Given the description of an element on the screen output the (x, y) to click on. 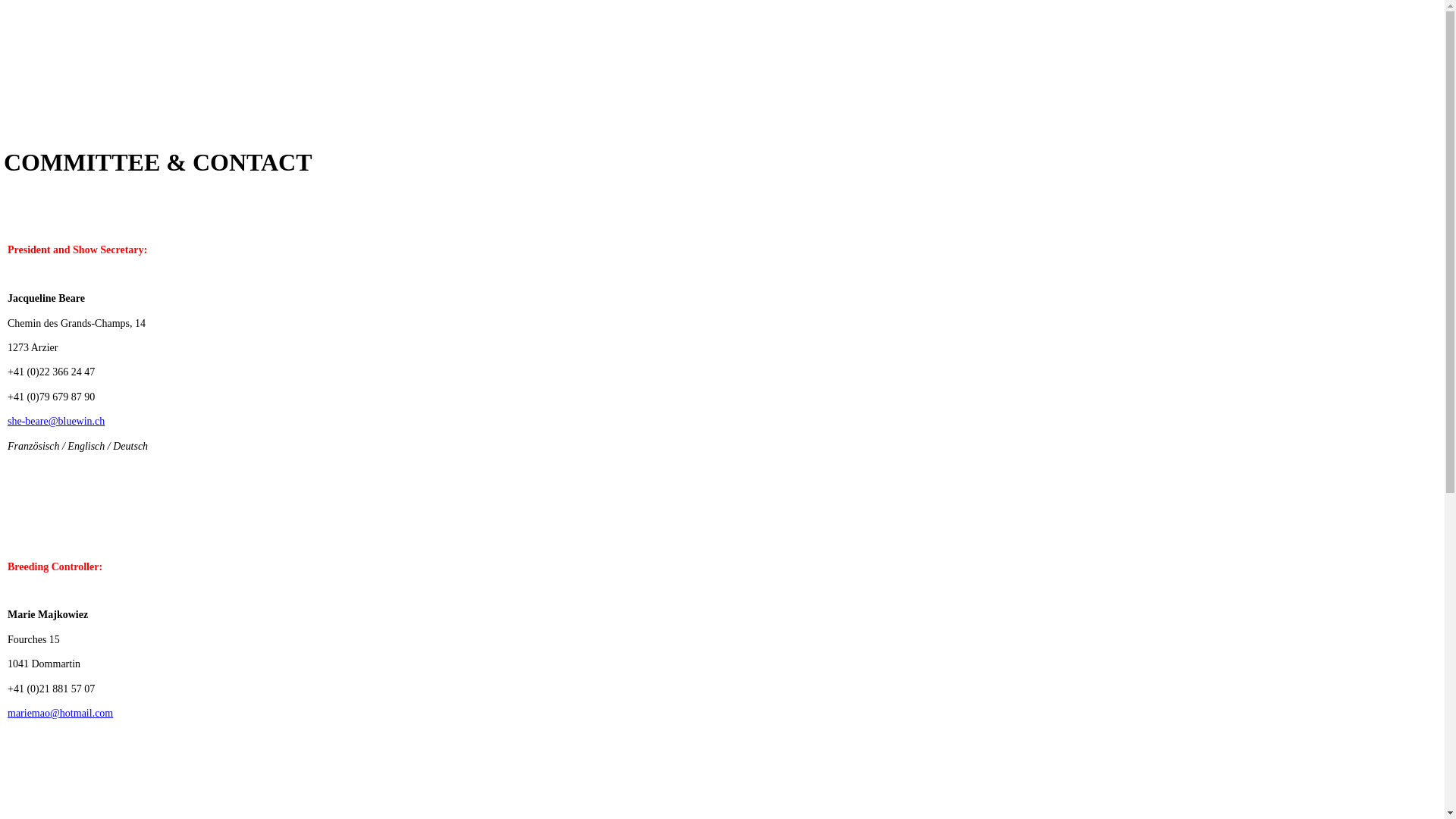
mariemao@hotmail.com Element type: text (59, 712)
she-beare@bluewin.ch Element type: text (55, 420)
